Given the description of an element on the screen output the (x, y) to click on. 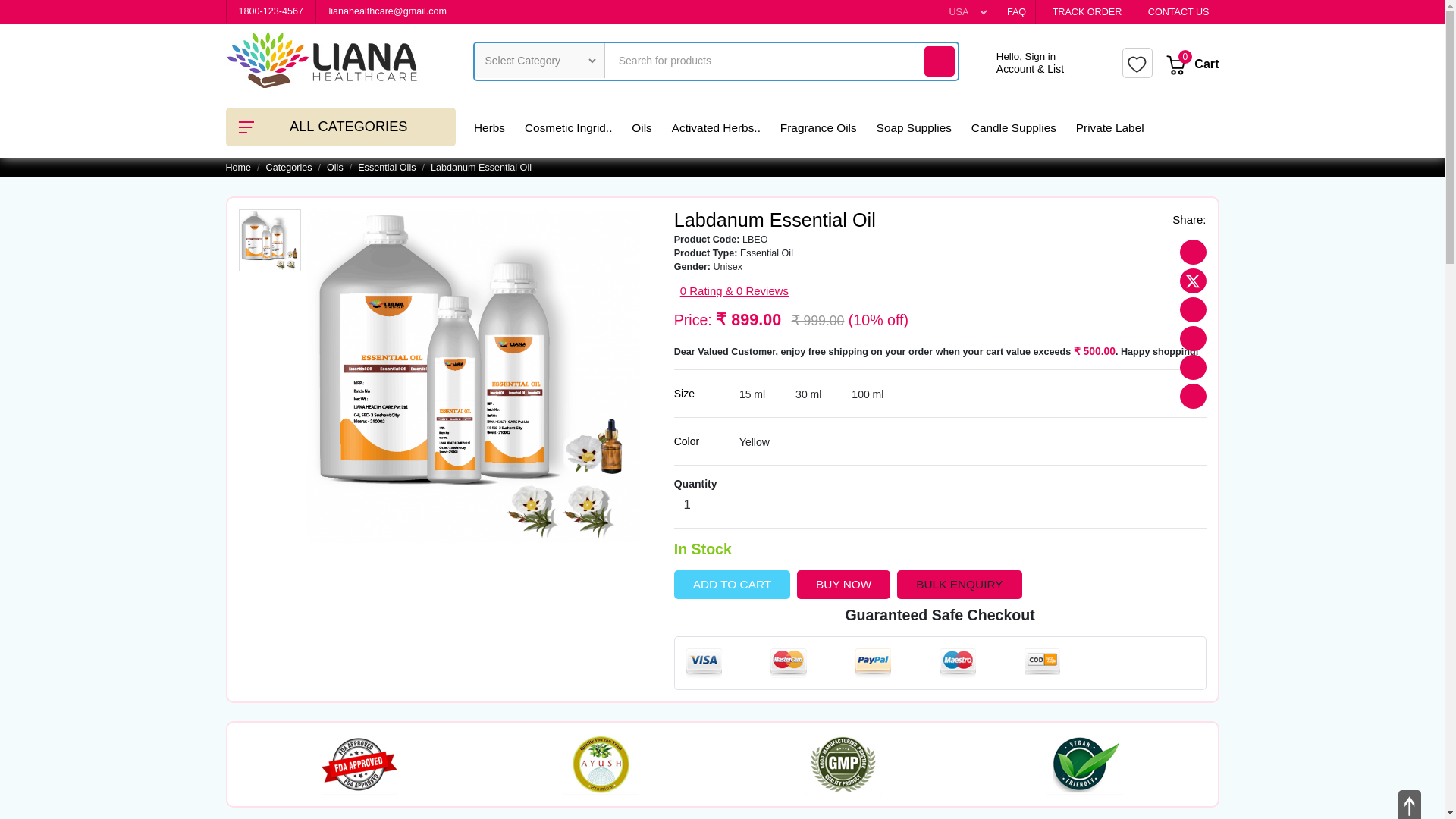
FAQ (1015, 12)
Cosmetic Ingrid.. (567, 128)
Contact Us (1178, 12)
Wishlist (1136, 63)
CONTACT US (1178, 12)
Herbs (489, 128)
Liana Health Care (322, 59)
Track Order (1087, 12)
TRACK ORDER (1087, 12)
Mail Us (386, 11)
Call Us (269, 11)
1 (687, 504)
FAQ (1015, 12)
1800-123-4567 (269, 11)
